Given the description of an element on the screen output the (x, y) to click on. 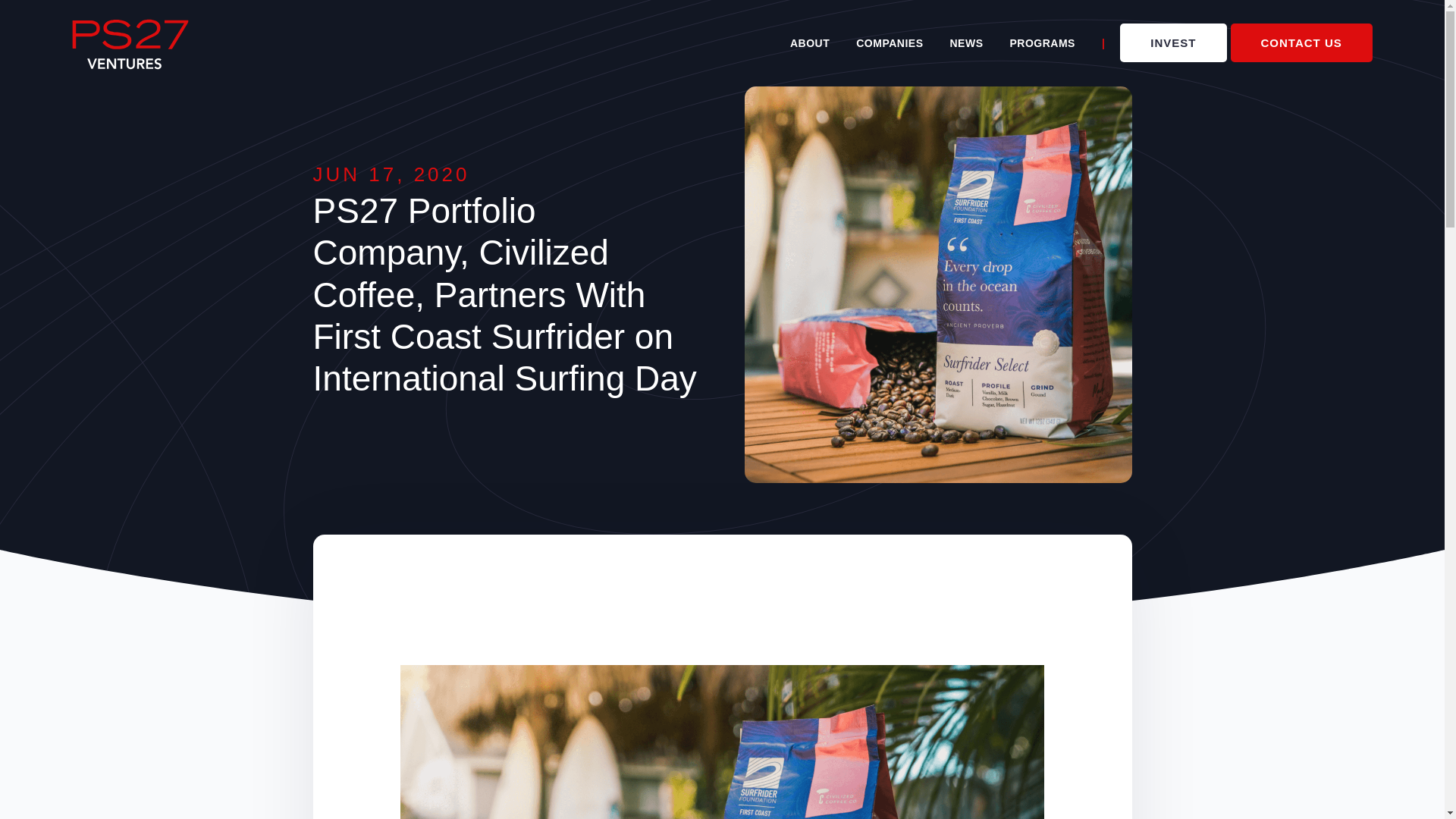
PROGRAMS (1041, 41)
INVEST (1172, 42)
ABOUT (809, 41)
CONTACT US (1301, 42)
PS27-02 (130, 43)
COMPANIES (889, 41)
NEWS (965, 41)
